Given the description of an element on the screen output the (x, y) to click on. 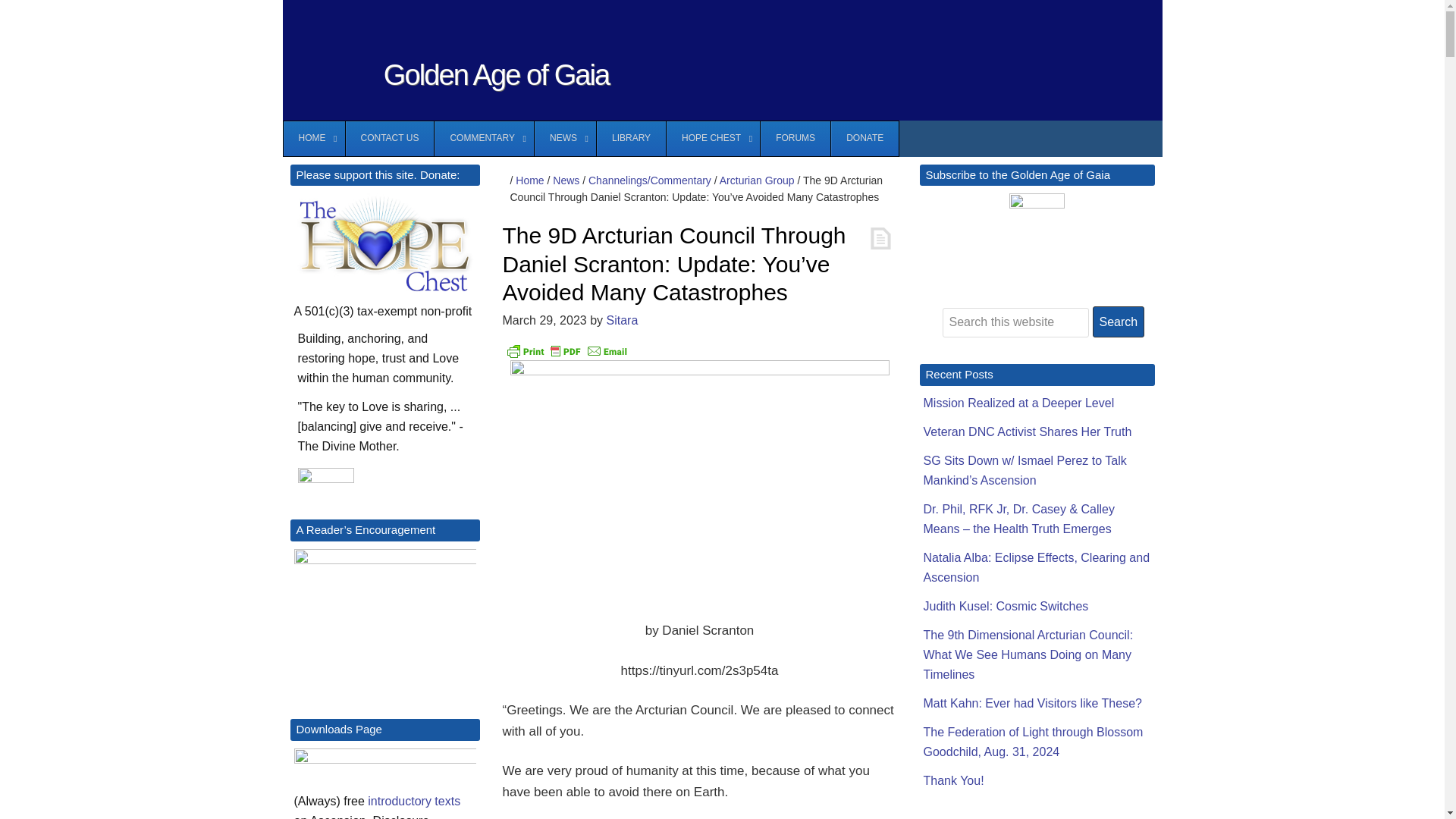
DONATE (863, 138)
News (566, 180)
Arcturian Group (756, 180)
Home (529, 180)
HOME (314, 138)
HOPE CHEST (712, 138)
NEWS (564, 138)
COMMENTARY (483, 138)
Golden Age of Gaia (496, 74)
Search (1118, 321)
